Given the description of an element on the screen output the (x, y) to click on. 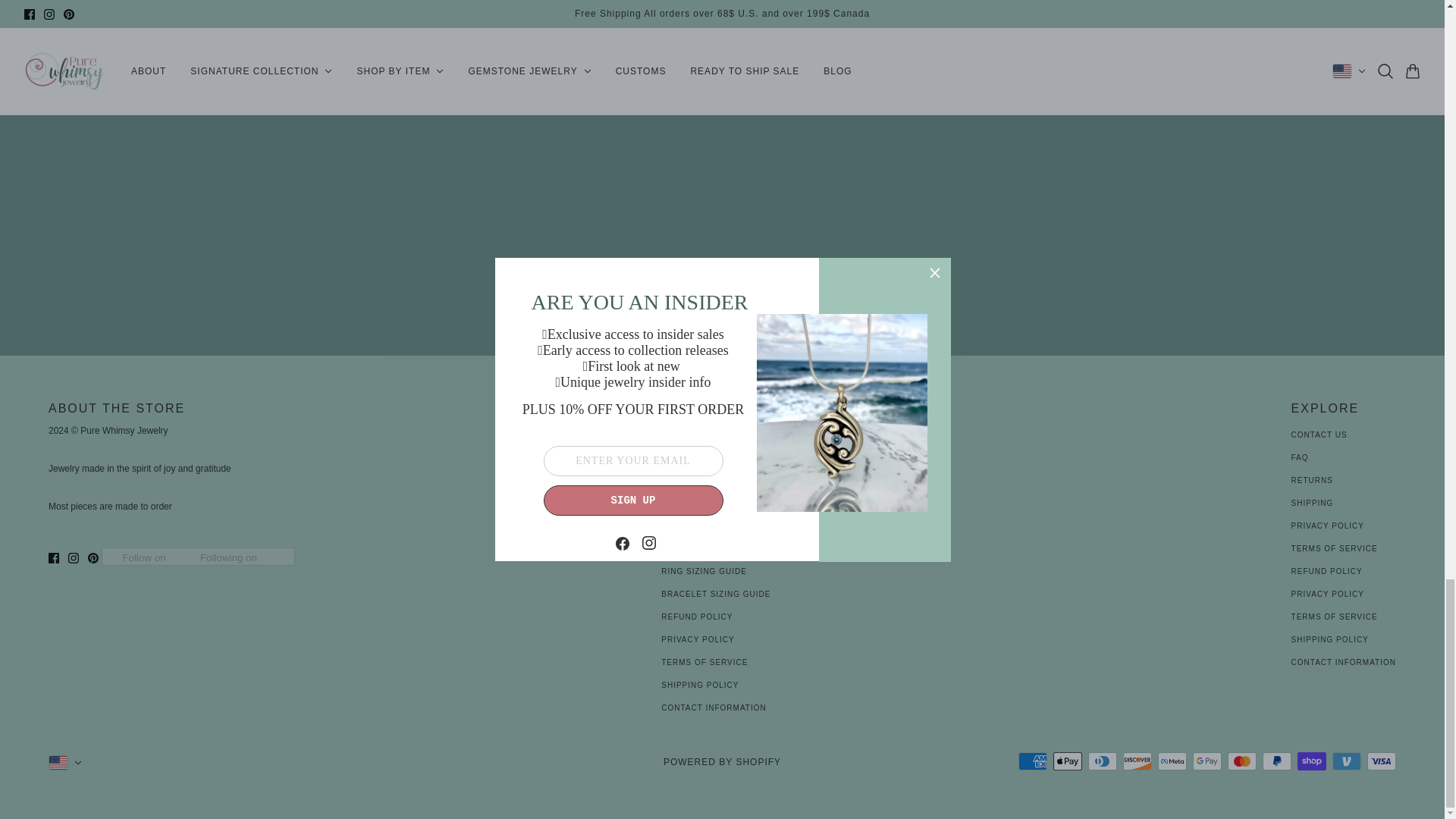
All Pendant Necklaces (718, 457)
Shipping policy (699, 684)
Signature Collection (715, 525)
Contact Us  (1319, 434)
Shipping  (1312, 502)
Faq (1299, 457)
Refund policy (696, 616)
Terms of service (704, 662)
Contact information (713, 707)
Privacy Policy (1327, 525)
Bracelet Sizing Guide (715, 593)
All Earrings (693, 434)
Customs (682, 548)
All Rings and Bracelets (722, 479)
Returns (1312, 479)
